Given the description of an element on the screen output the (x, y) to click on. 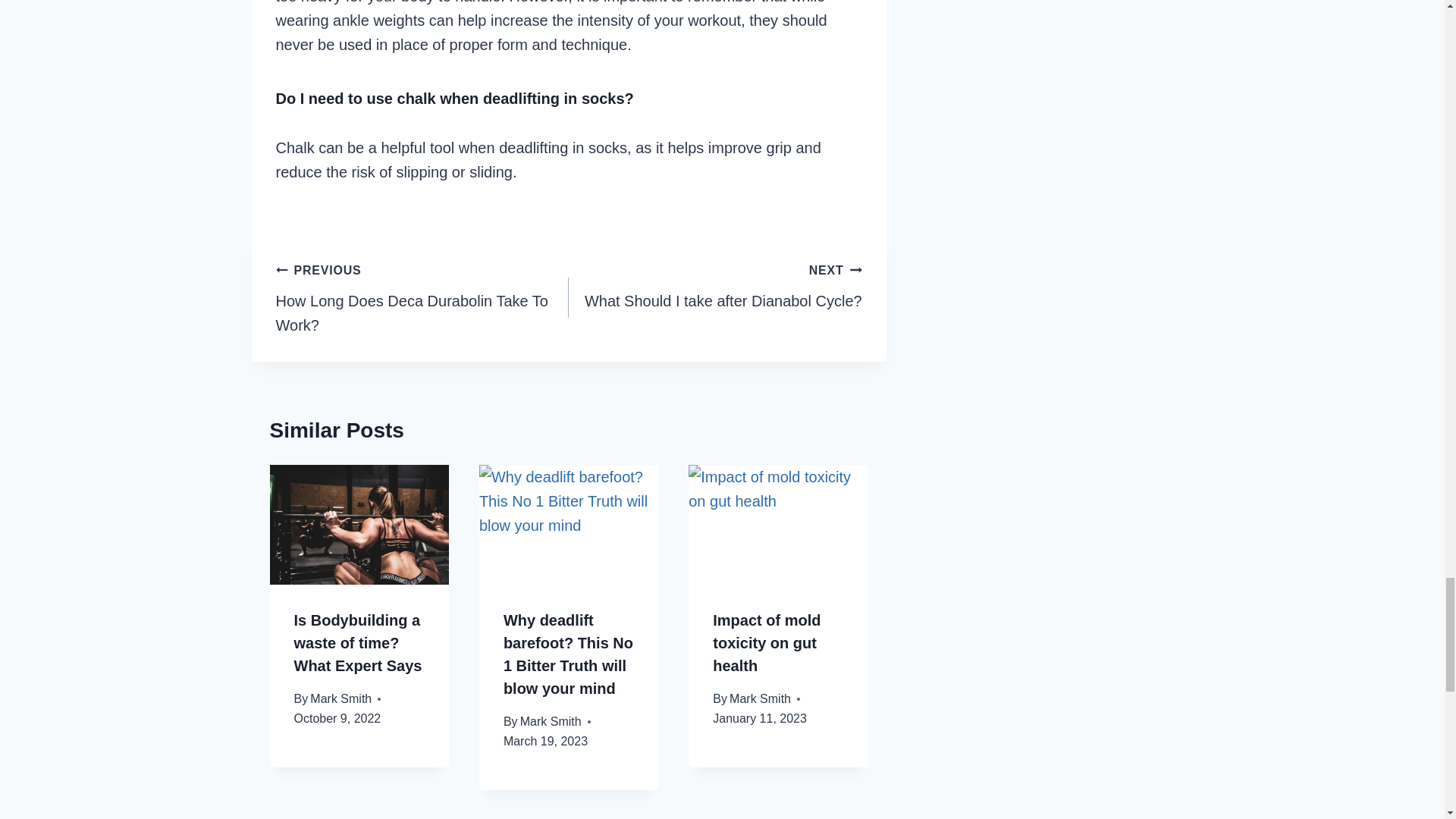
Mark Smith (715, 284)
Is Bodybuilding a waste of time? What Expert Says (340, 698)
